Given the description of an element on the screen output the (x, y) to click on. 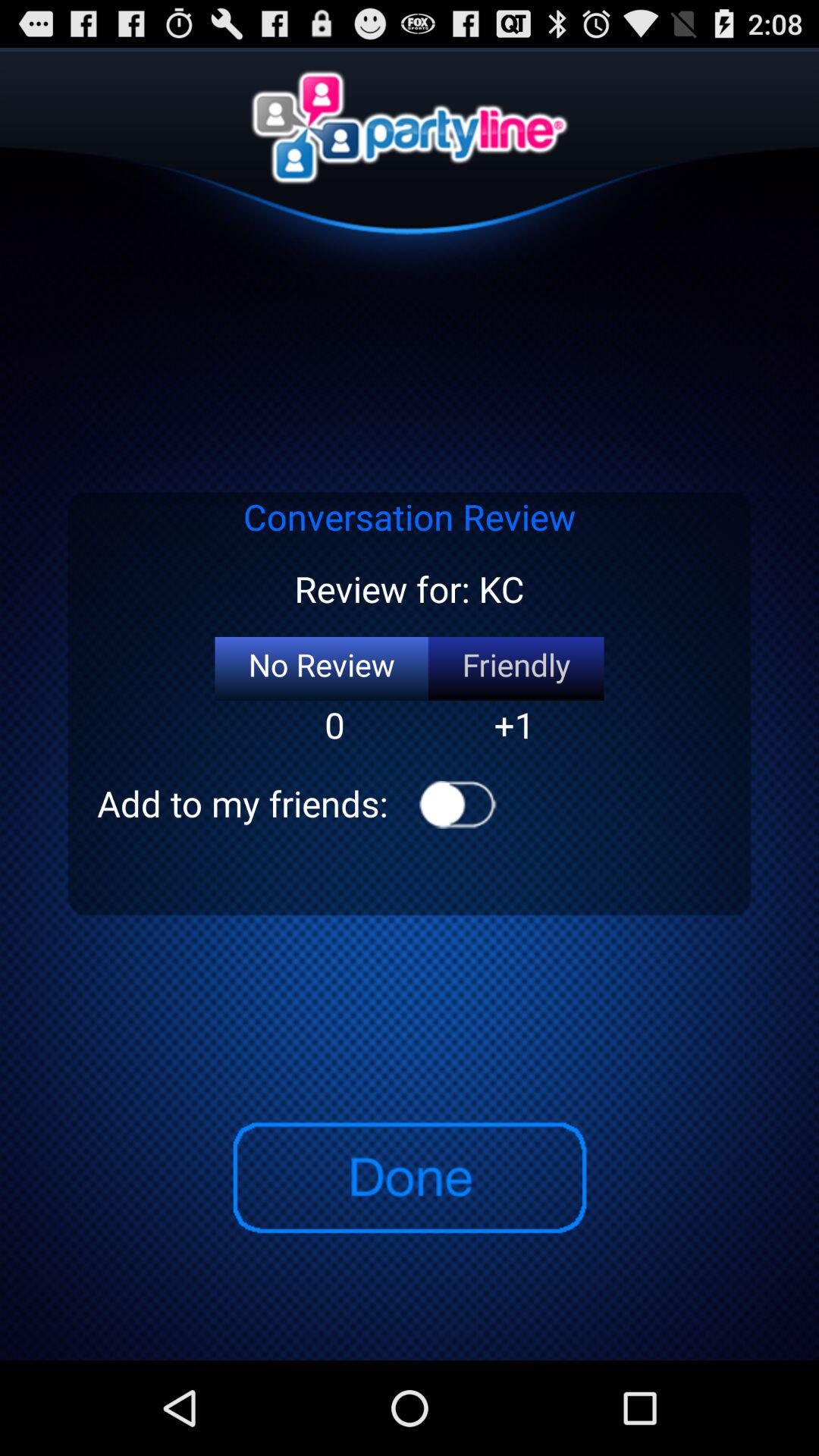
turn off app below the review for: kc (516, 668)
